Given the description of an element on the screen output the (x, y) to click on. 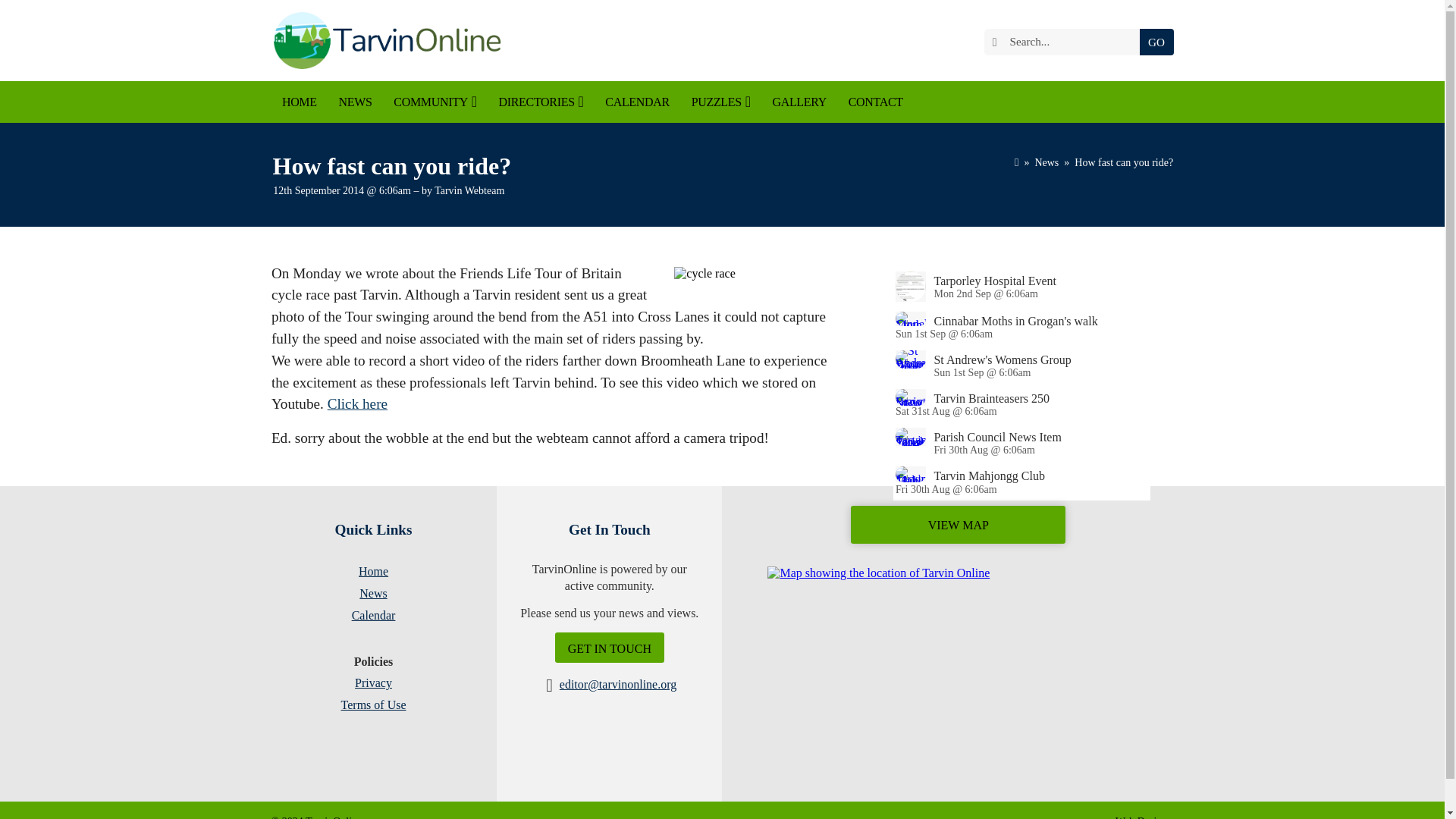
NEWS (354, 101)
GALLERY (799, 101)
Search... (1065, 41)
HOME (299, 101)
Tarvin Online Home (385, 40)
DIRECTORIES (540, 101)
COMMUNITY (434, 101)
CONTACT (875, 101)
Visit our X Feed (411, 816)
